Given the description of an element on the screen output the (x, y) to click on. 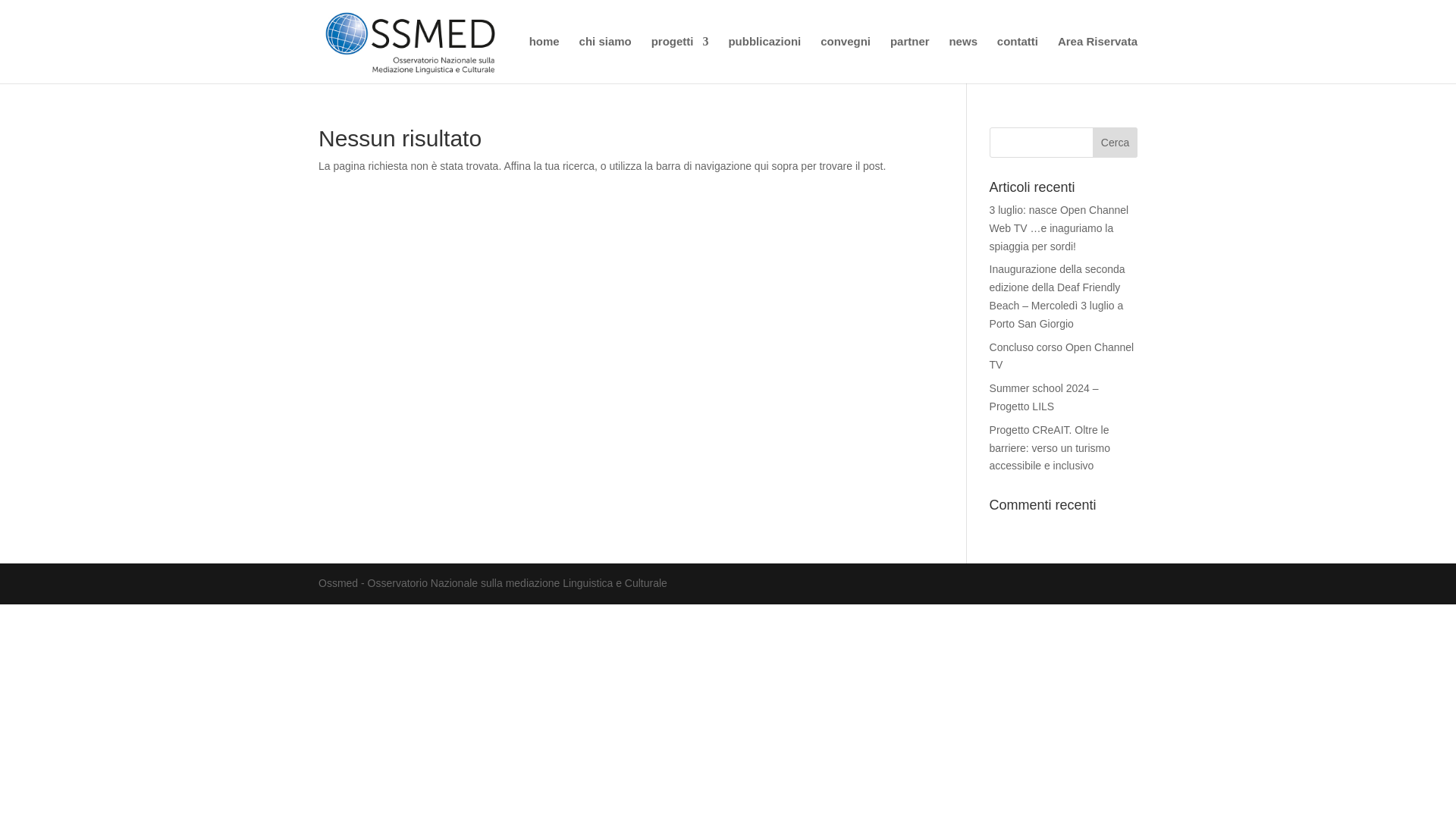
progetti (679, 59)
chi siamo (605, 59)
Area Riservata (1097, 59)
Cerca (1115, 142)
Concluso corso Open Channel TV (1062, 356)
convegni (845, 59)
pubblicazioni (764, 59)
Cerca (1115, 142)
